Given the description of an element on the screen output the (x, y) to click on. 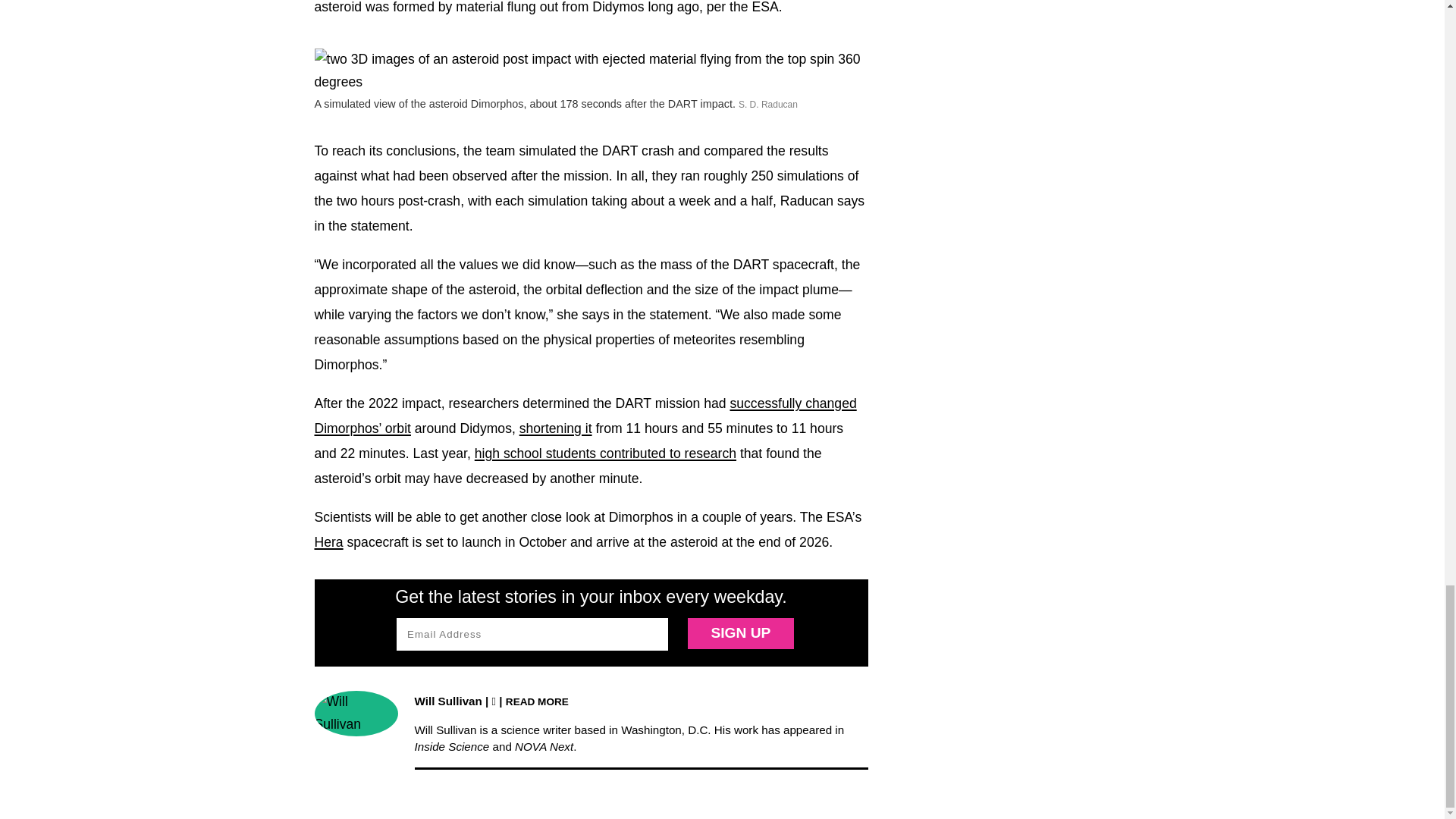
Sign Up (740, 633)
Read more from this author (537, 700)
